Given the description of an element on the screen output the (x, y) to click on. 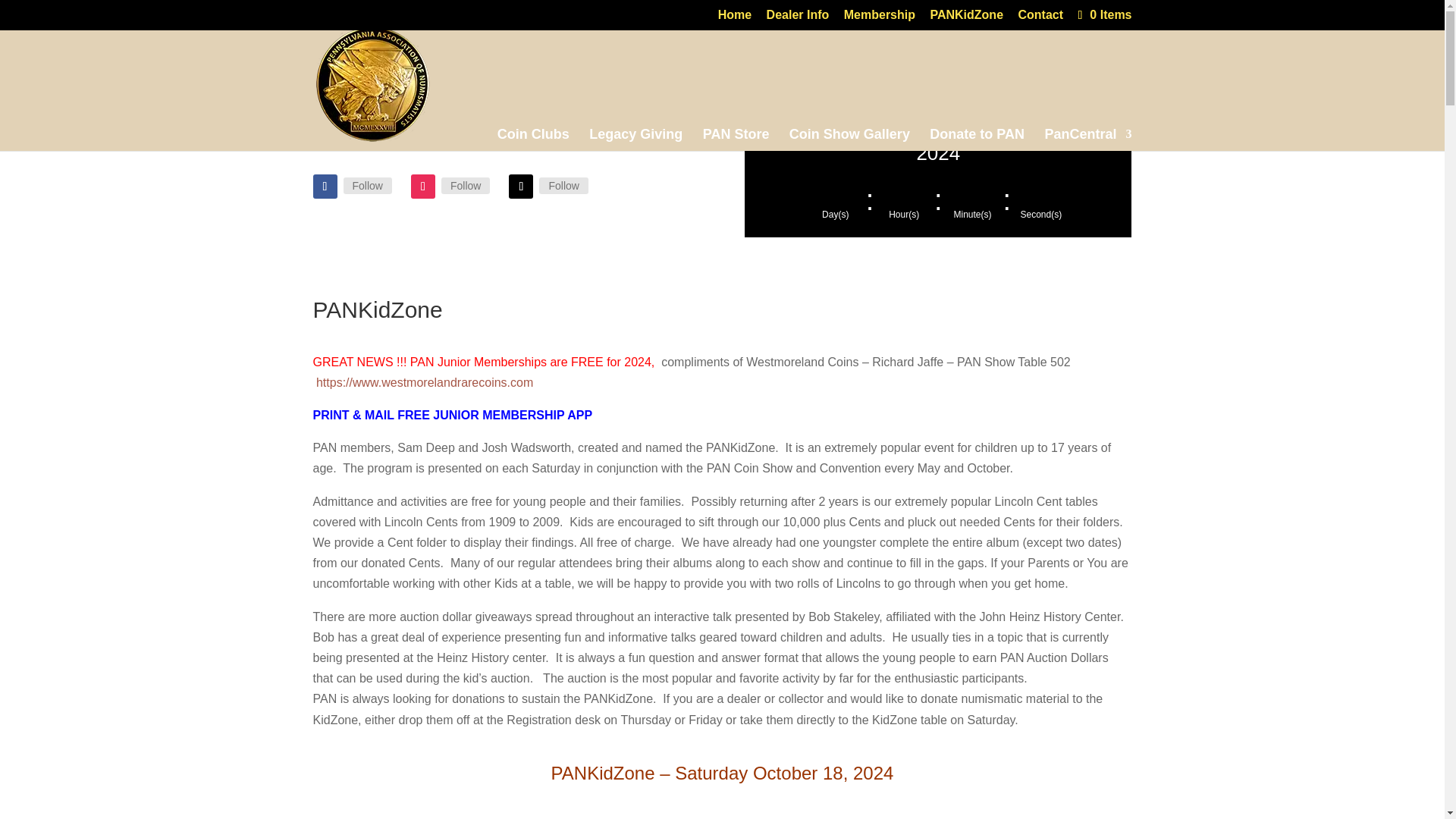
Follow on Facebook (324, 186)
PAN Store (736, 124)
Follow on Instagram (422, 186)
Follow (465, 185)
Legacy Giving (635, 124)
Follow (563, 185)
X (563, 185)
Dealer Info (798, 19)
Membership (879, 19)
Donate to PAN (977, 124)
